Given the description of an element on the screen output the (x, y) to click on. 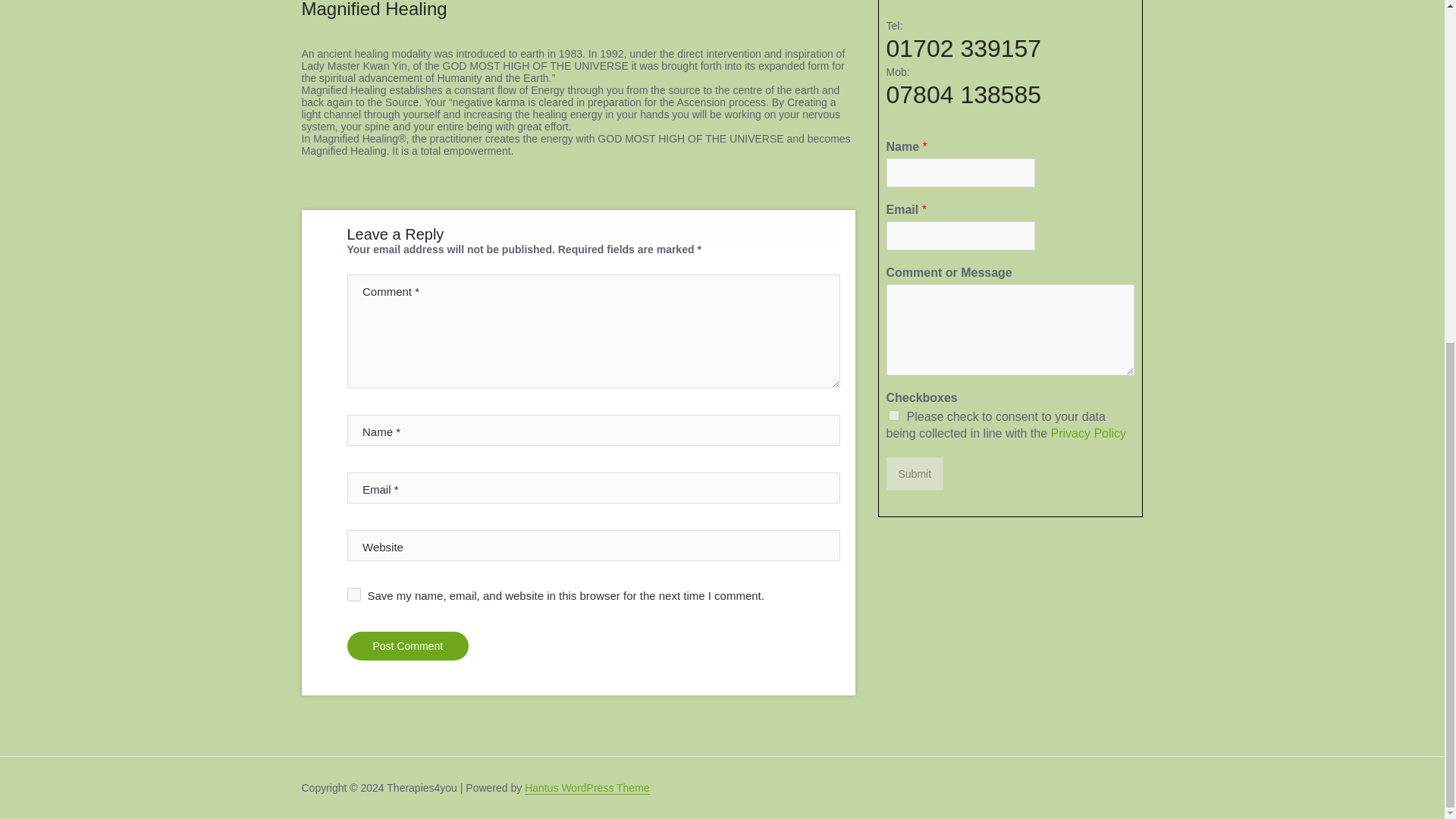
yes (354, 594)
Post Comment (407, 645)
